Given the description of an element on the screen output the (x, y) to click on. 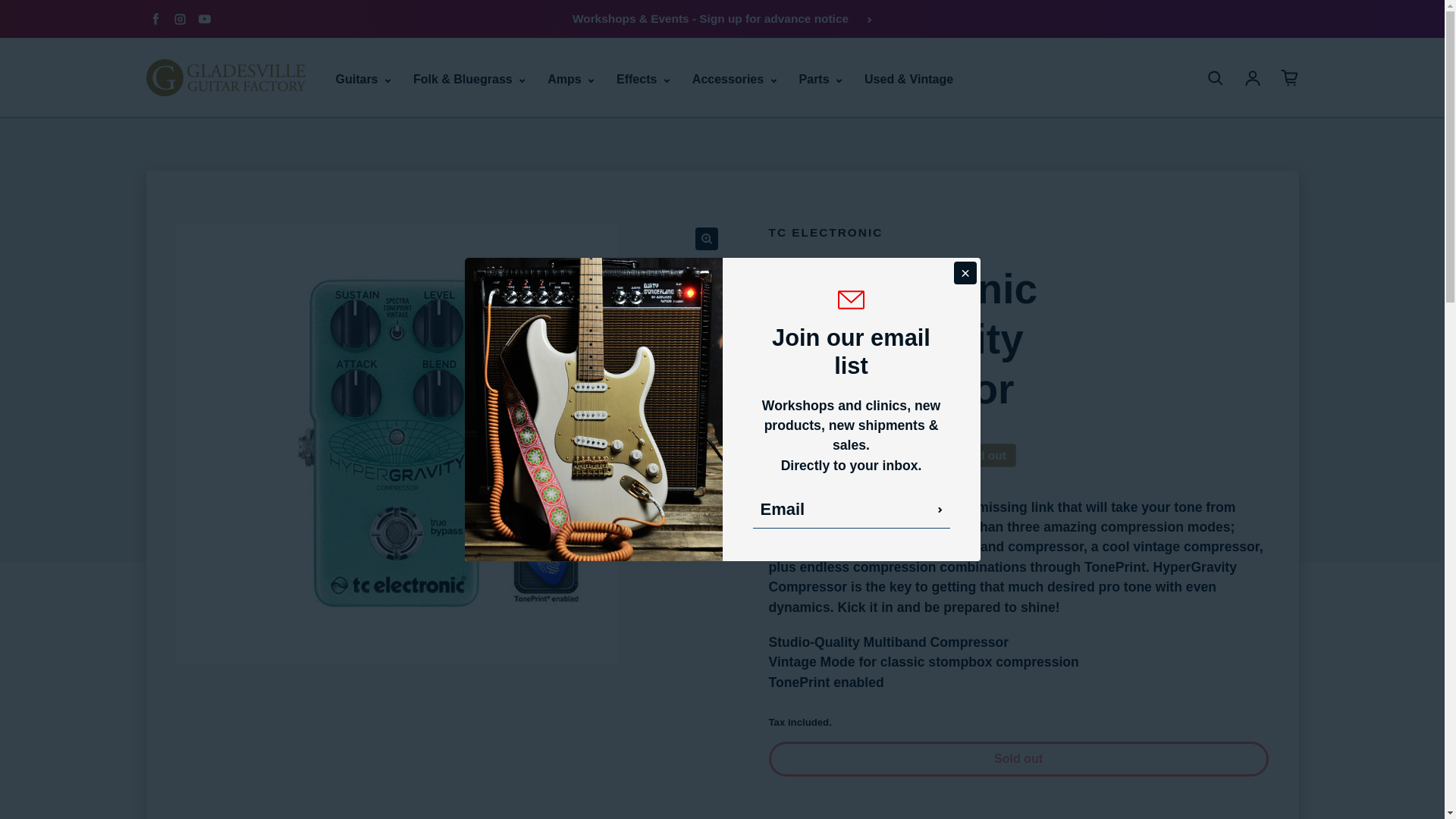
Accessories (734, 79)
Parts (820, 79)
Instagram (179, 18)
Log in (1252, 76)
Amps (570, 79)
Guitars (362, 79)
Effects (642, 79)
Facebook (154, 18)
YouTube (203, 18)
